Given the description of an element on the screen output the (x, y) to click on. 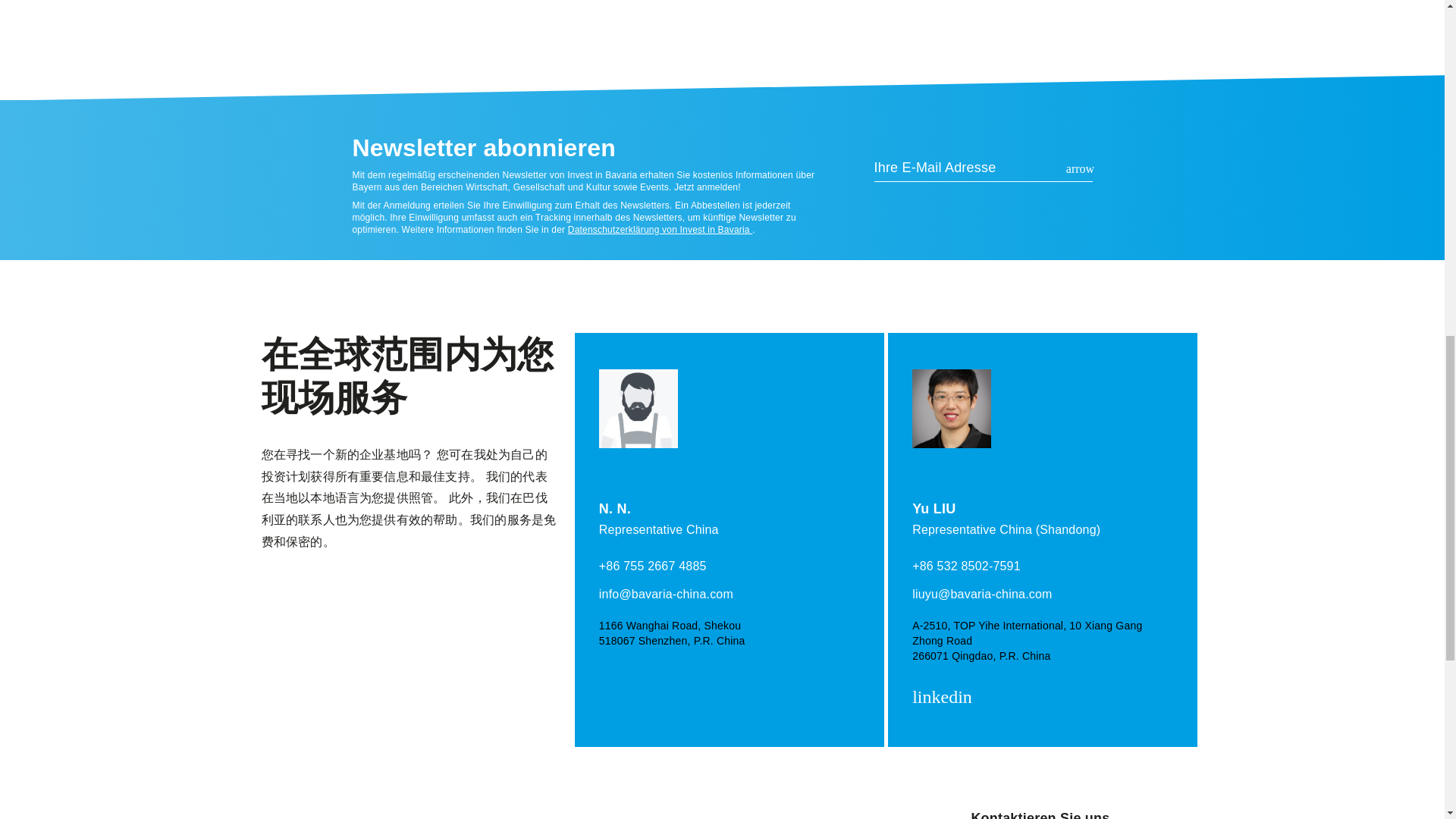
arrow (1079, 168)
linkedin (945, 698)
